Given the description of an element on the screen output the (x, y) to click on. 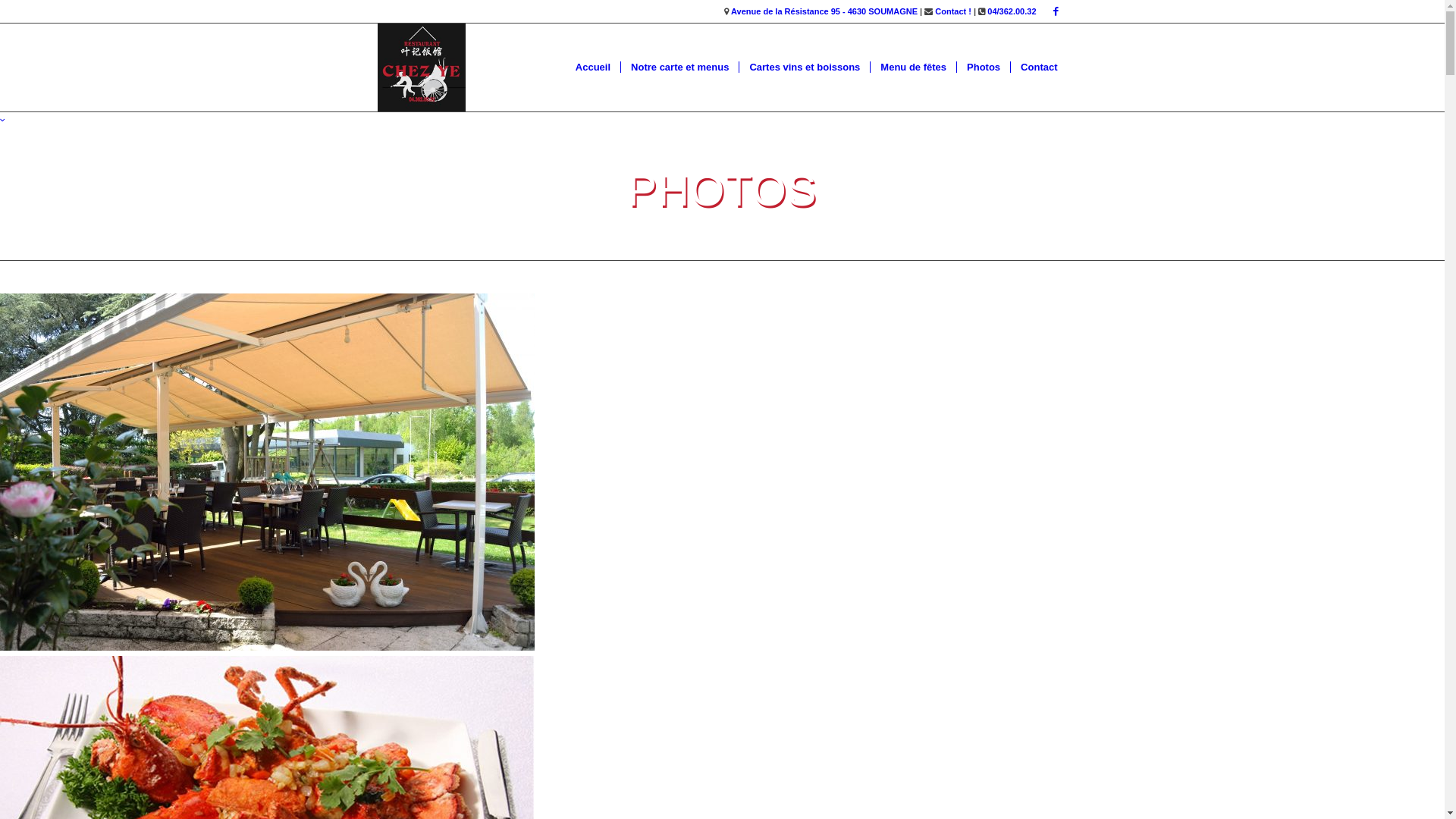
Photos Element type: text (983, 67)
2 Element type: hover (722, 268)
Contact Element type: text (1038, 67)
dsc_6630 Element type: hover (267, 471)
dsc_6630 Element type: hover (722, 474)
Facebook Element type: hover (1055, 11)
Cartes vins et boissons Element type: text (803, 67)
04/362.00.32 Element type: text (1011, 10)
dsc_6612 Element type: hover (722, 285)
Notre carte et menus Element type: text (679, 67)
Accueil Element type: text (592, 67)
Contact ! Element type: text (953, 10)
